Given the description of an element on the screen output the (x, y) to click on. 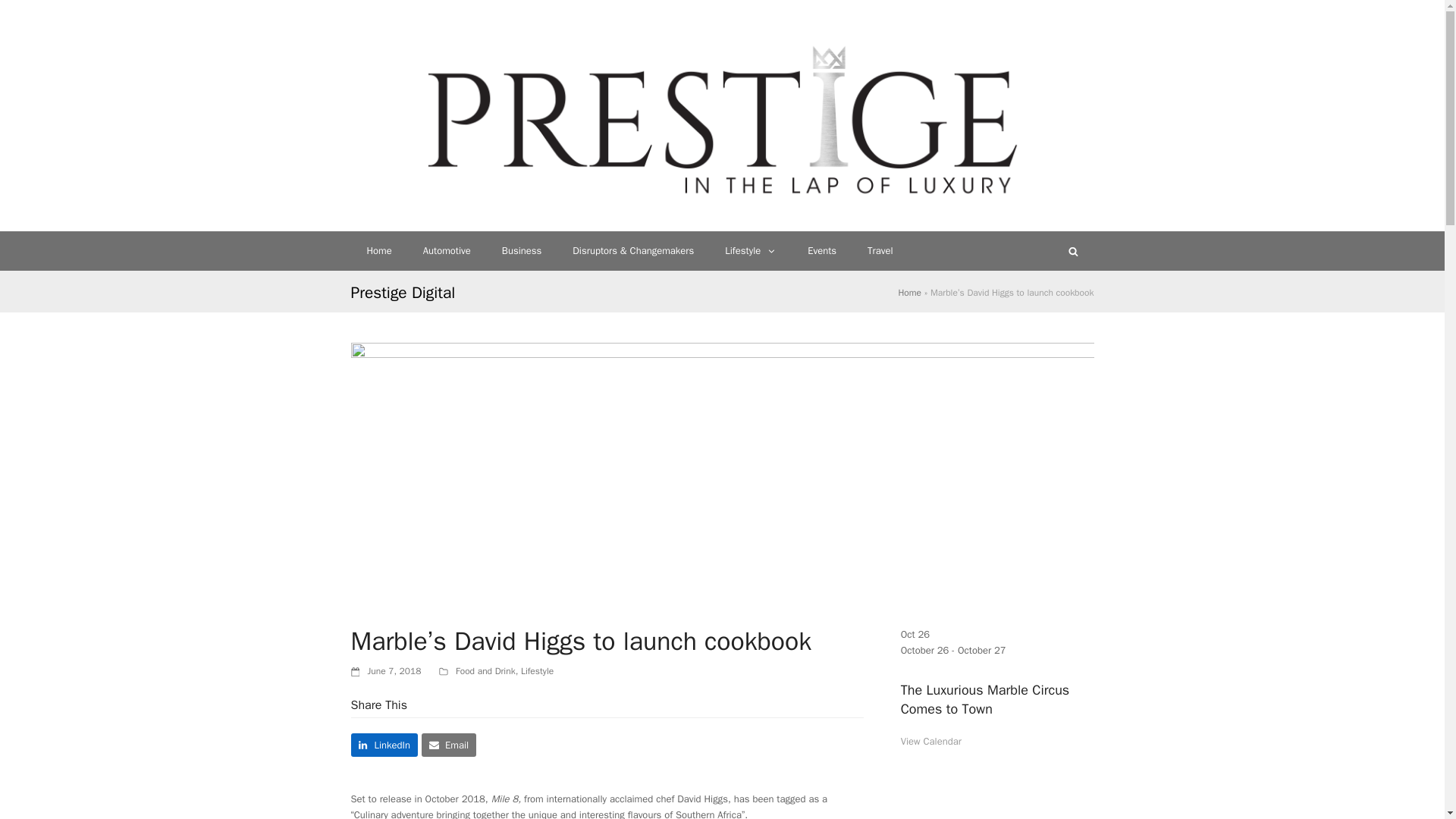
Home (379, 250)
Business (521, 250)
The Luxurious Marble Circus Comes to Town (985, 699)
View more events. (930, 740)
LinkedIn (383, 744)
Travel (879, 250)
Home (909, 292)
View Calendar (930, 740)
Lifestyle (537, 671)
Food and Drink (485, 671)
